Given the description of an element on the screen output the (x, y) to click on. 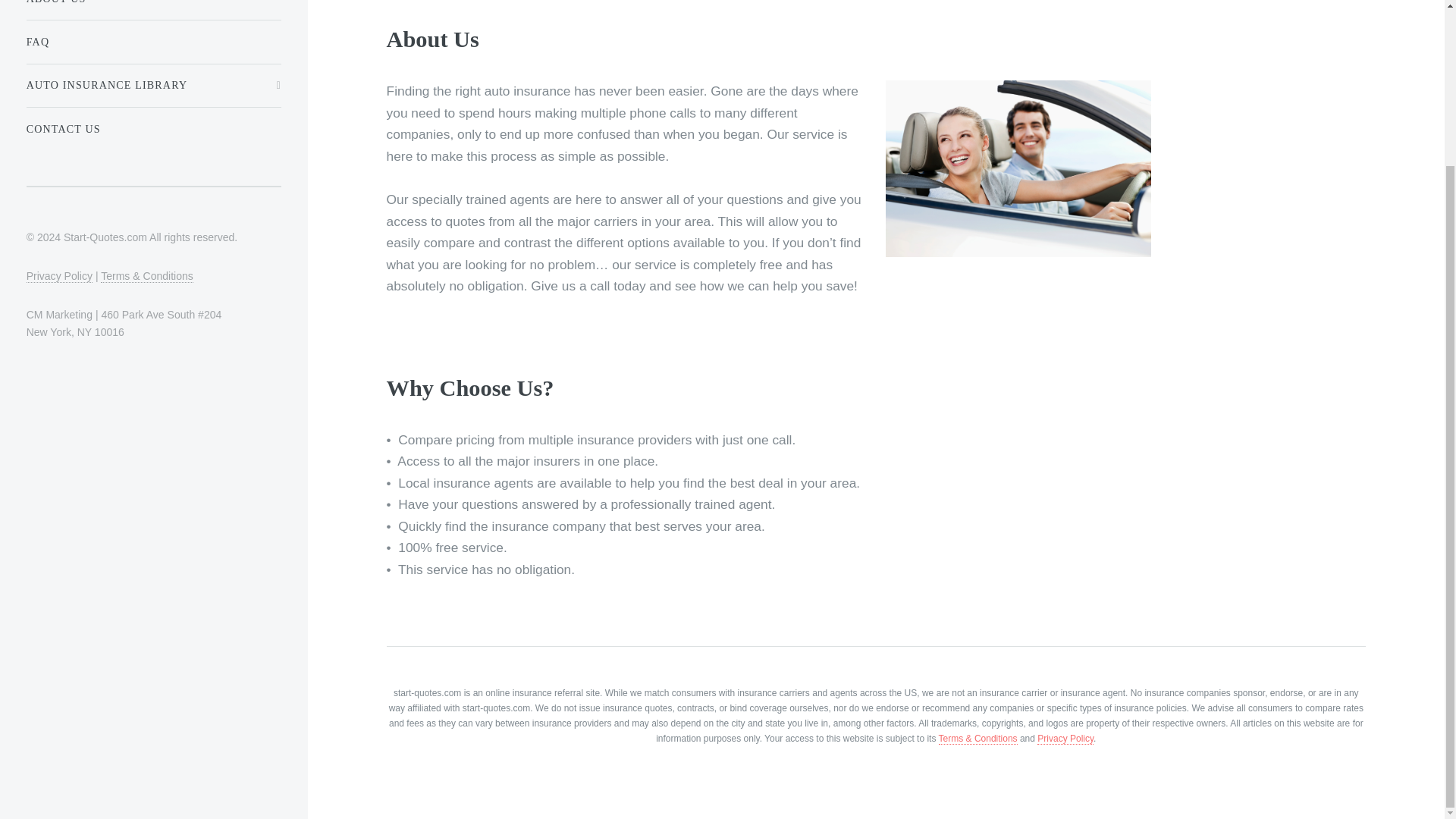
CONTACT US (153, 128)
Privacy Policy (1064, 738)
ABOUT US (153, 7)
Privacy Policy (59, 276)
FAQ (153, 41)
